Given the description of an element on the screen output the (x, y) to click on. 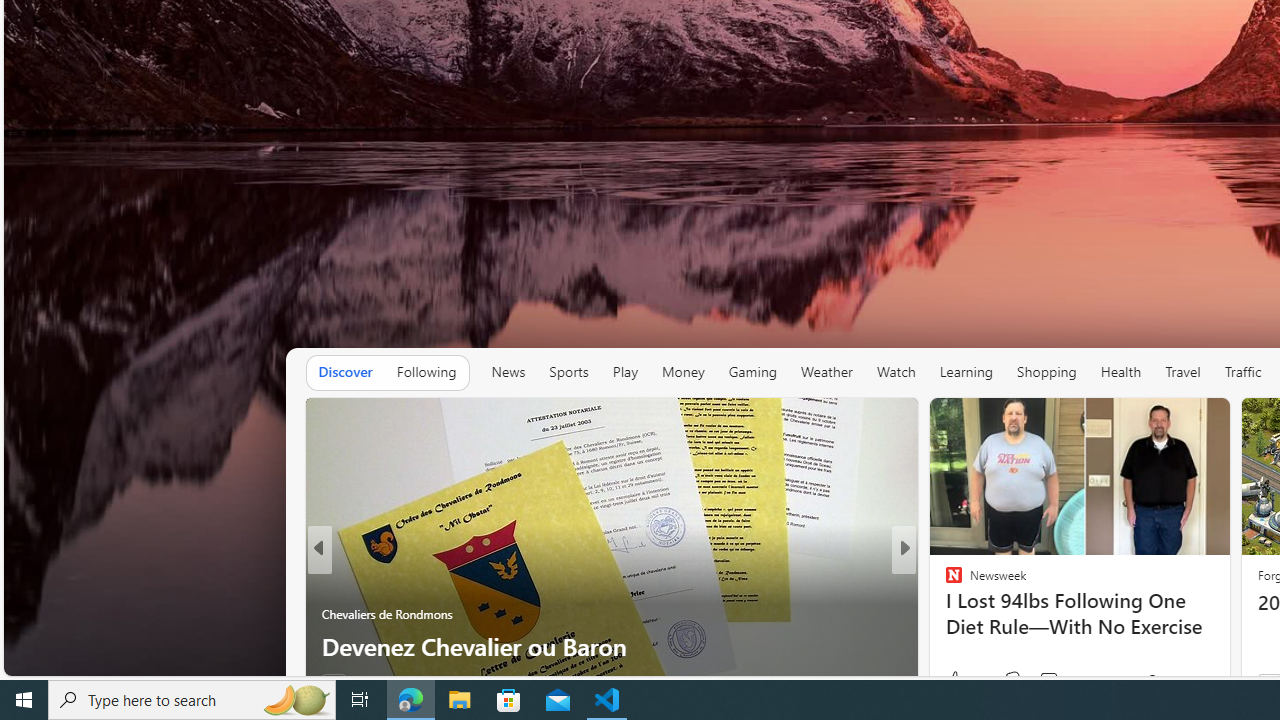
Health (1121, 371)
27 Like (956, 681)
View comments 10 Comment (1036, 681)
Gaming (752, 372)
Constative (944, 581)
78 Like (956, 681)
Start the conversation (1036, 681)
Play (625, 372)
View comments 1 Comment (1041, 681)
